Given the description of an element on the screen output the (x, y) to click on. 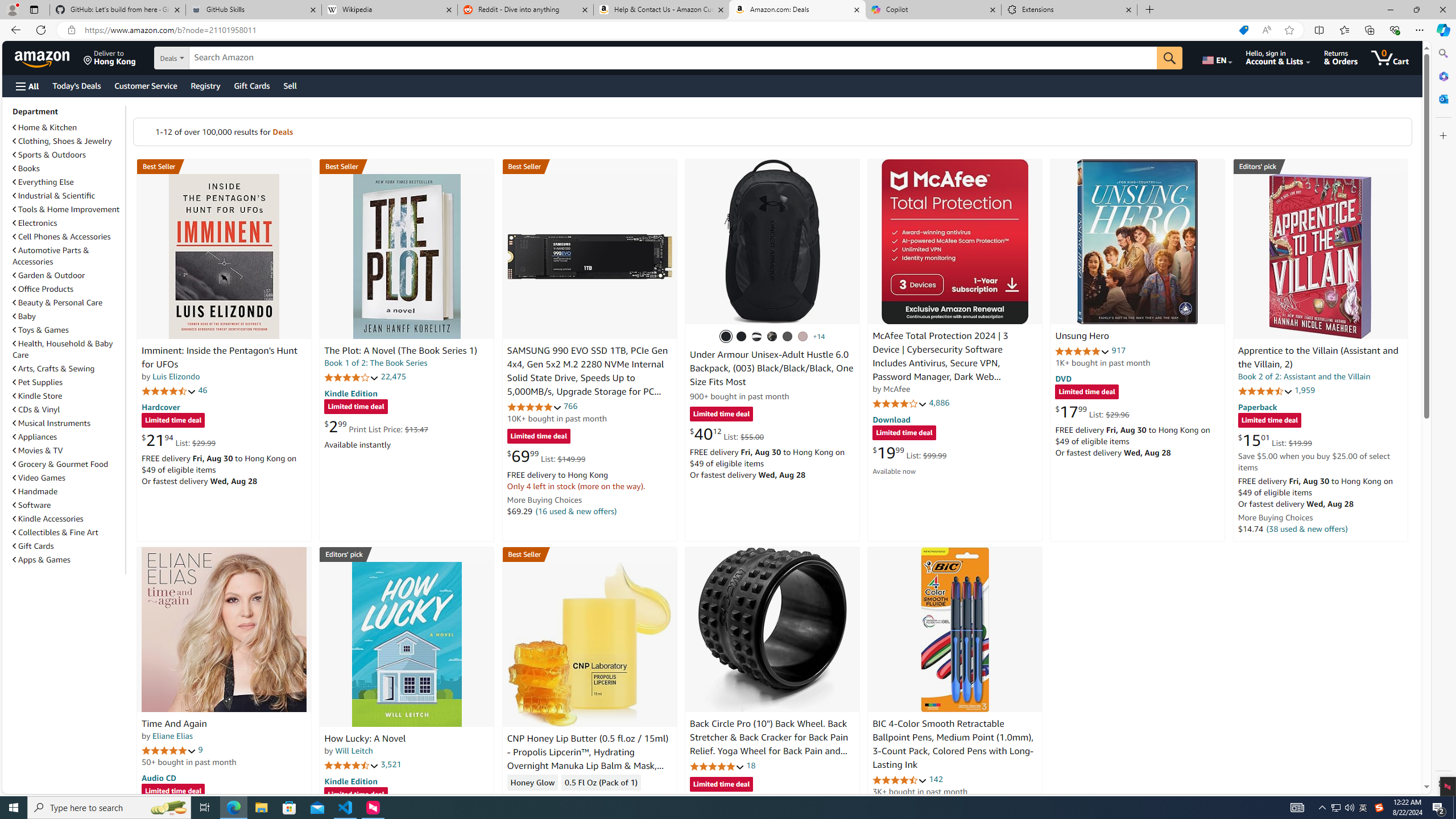
$15.01 List: $19.99 (1274, 439)
Best Seller in Internal Solid State Drives (589, 165)
0 items in cart (1389, 57)
$69.99 List: $149.99 (545, 455)
Toys & Games (40, 329)
Will Leitch (353, 750)
(003) Black / Black / Black (725, 336)
Customer Service (145, 85)
Search in (210, 58)
Garden & Outdoor (49, 275)
